Given the description of an element on the screen output the (x, y) to click on. 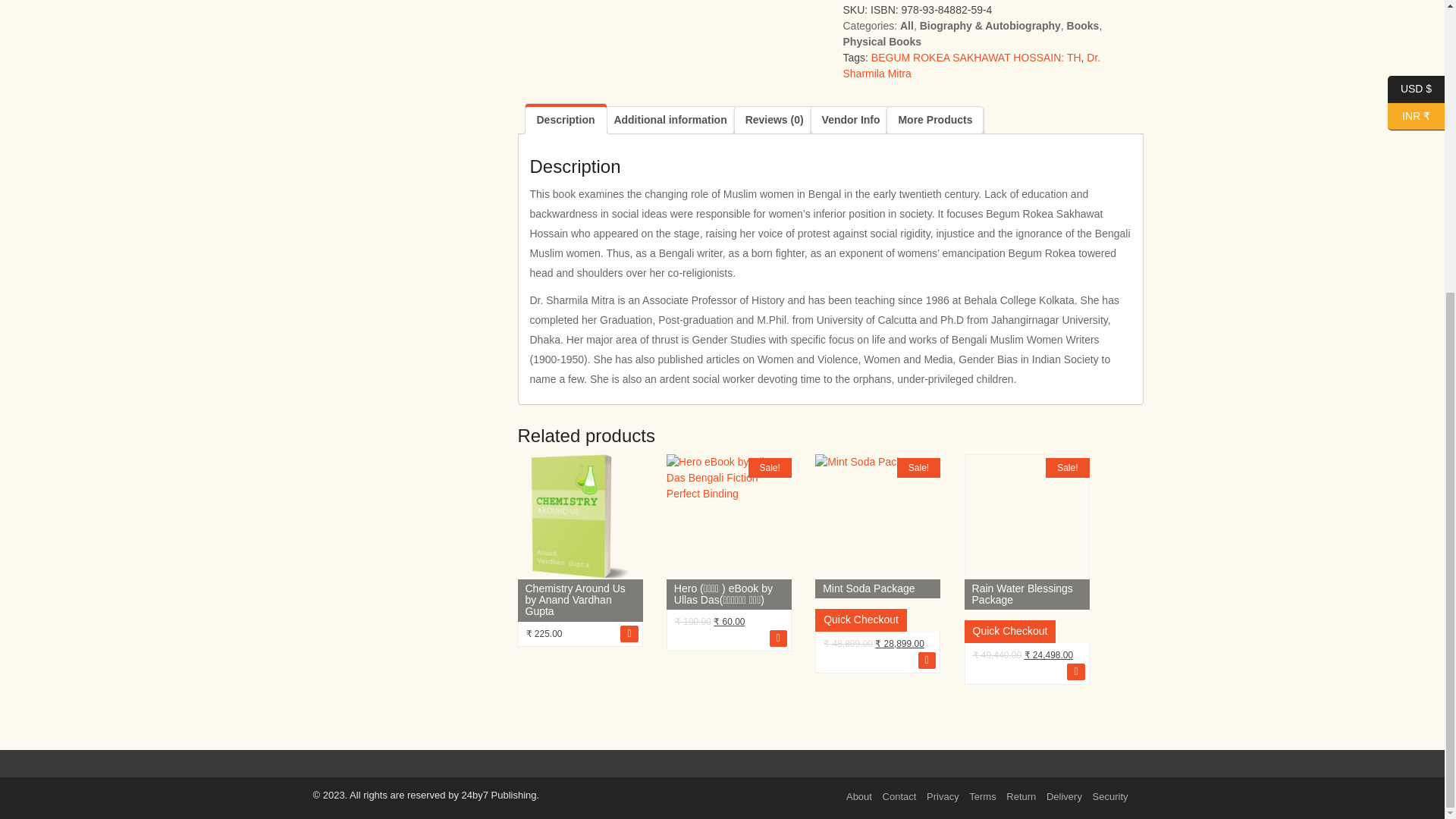
All (906, 25)
